Given the description of an element on the screen output the (x, y) to click on. 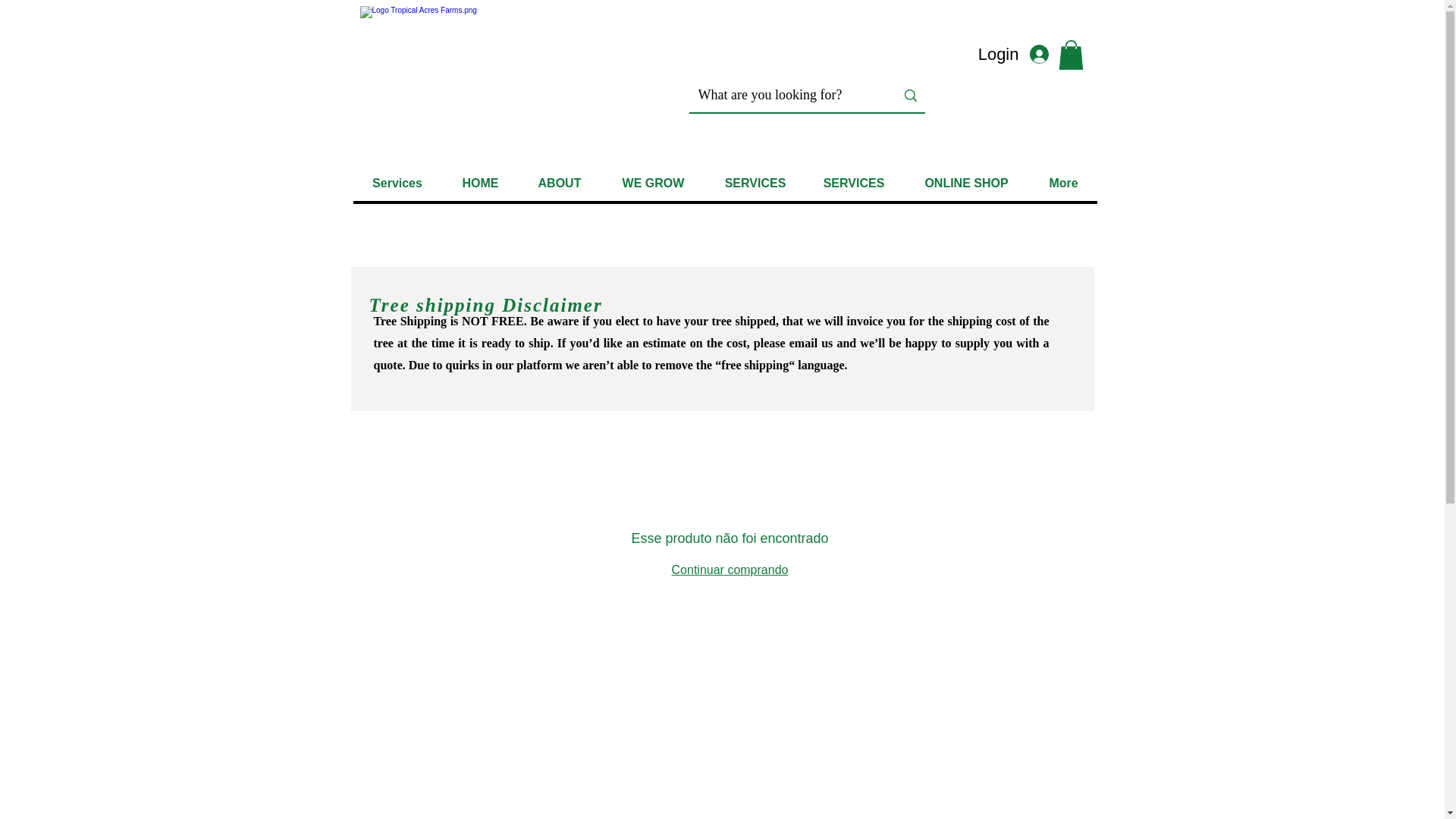
Continuar comprando (730, 569)
HOME (479, 182)
ABOUT (558, 182)
SERVICES (753, 182)
Services (397, 182)
ONLINE SHOP (965, 182)
Login (1020, 54)
